Given the description of an element on the screen output the (x, y) to click on. 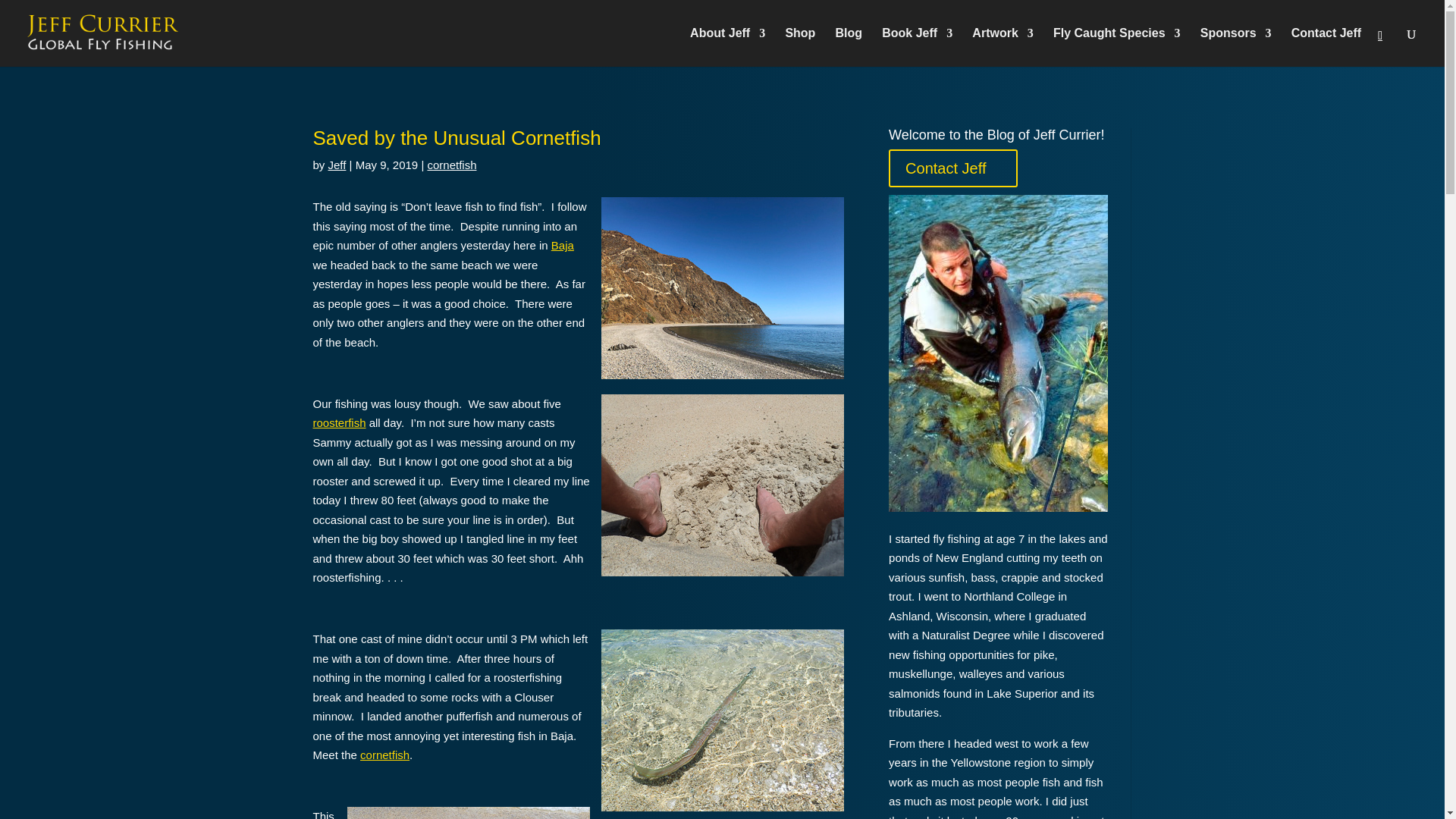
Posts by Jeff (337, 164)
Artwork (1002, 46)
Book Jeff (917, 46)
About Jeff (727, 46)
